Given the description of an element on the screen output the (x, y) to click on. 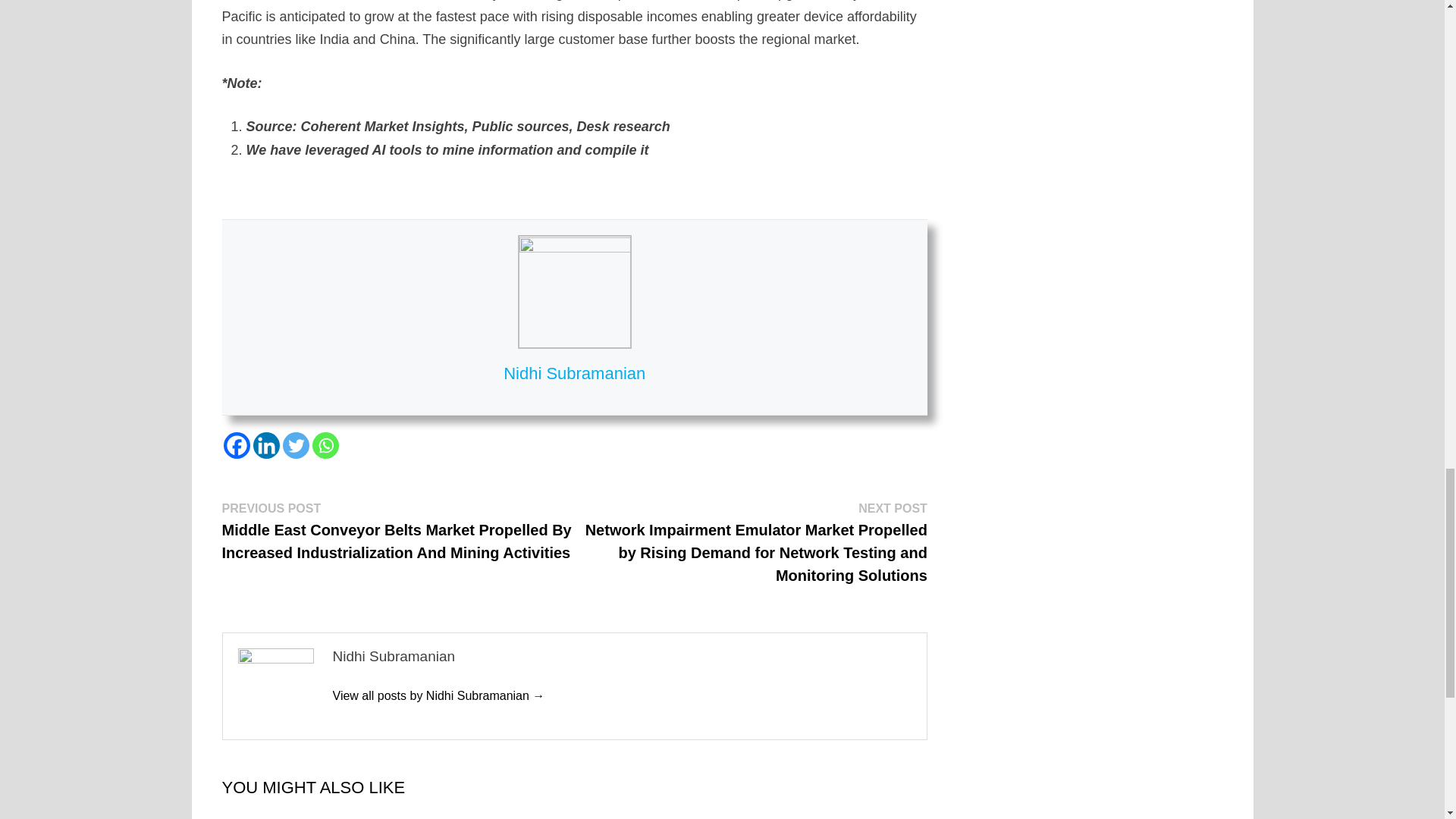
Facebook (235, 445)
Nidhi Subramanian (437, 695)
Twitter (295, 445)
Linkedin (266, 445)
Whatsapp (326, 445)
